Given the description of an element on the screen output the (x, y) to click on. 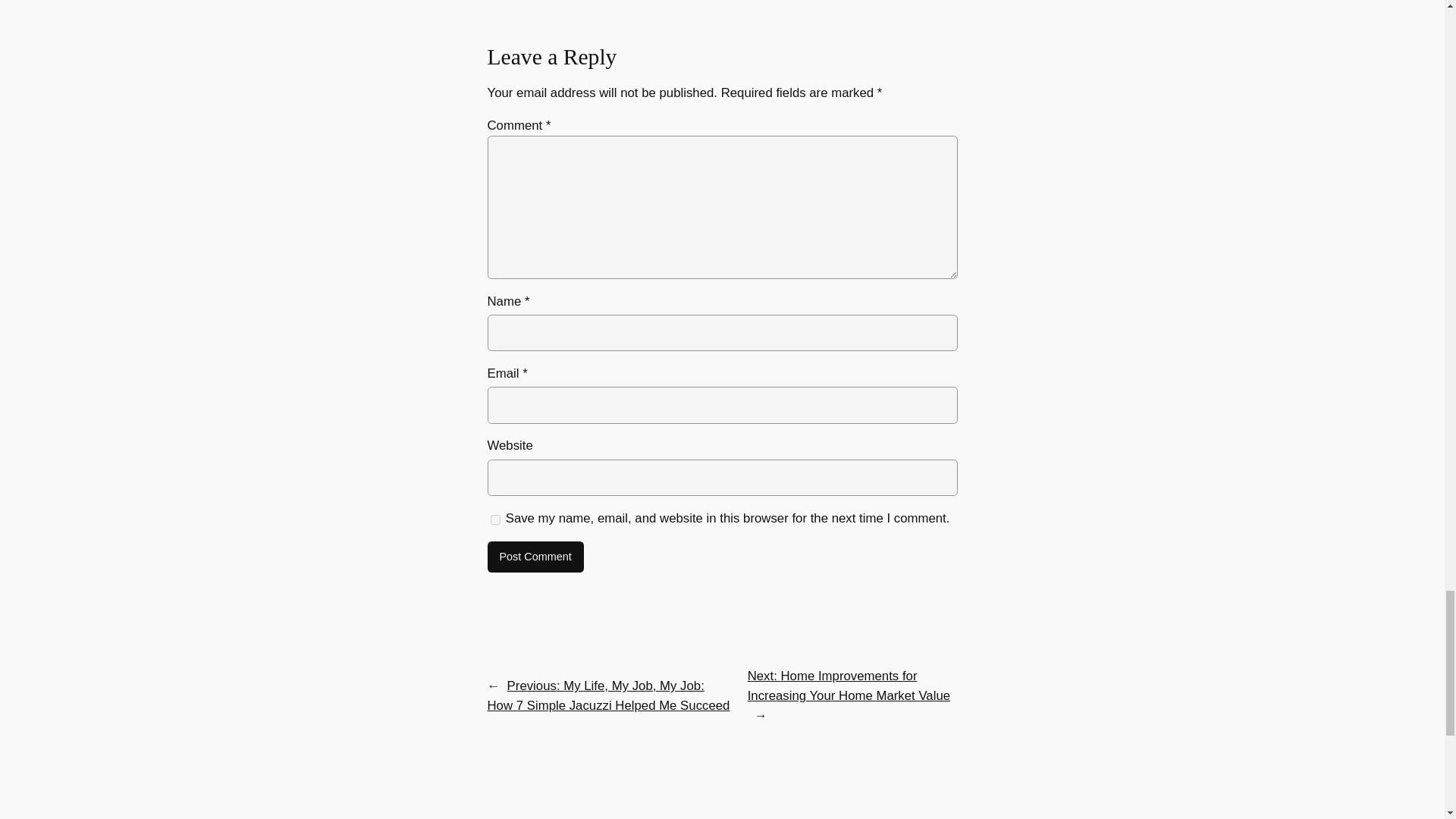
Post Comment (534, 557)
Post Comment (534, 557)
